Given the description of an element on the screen output the (x, y) to click on. 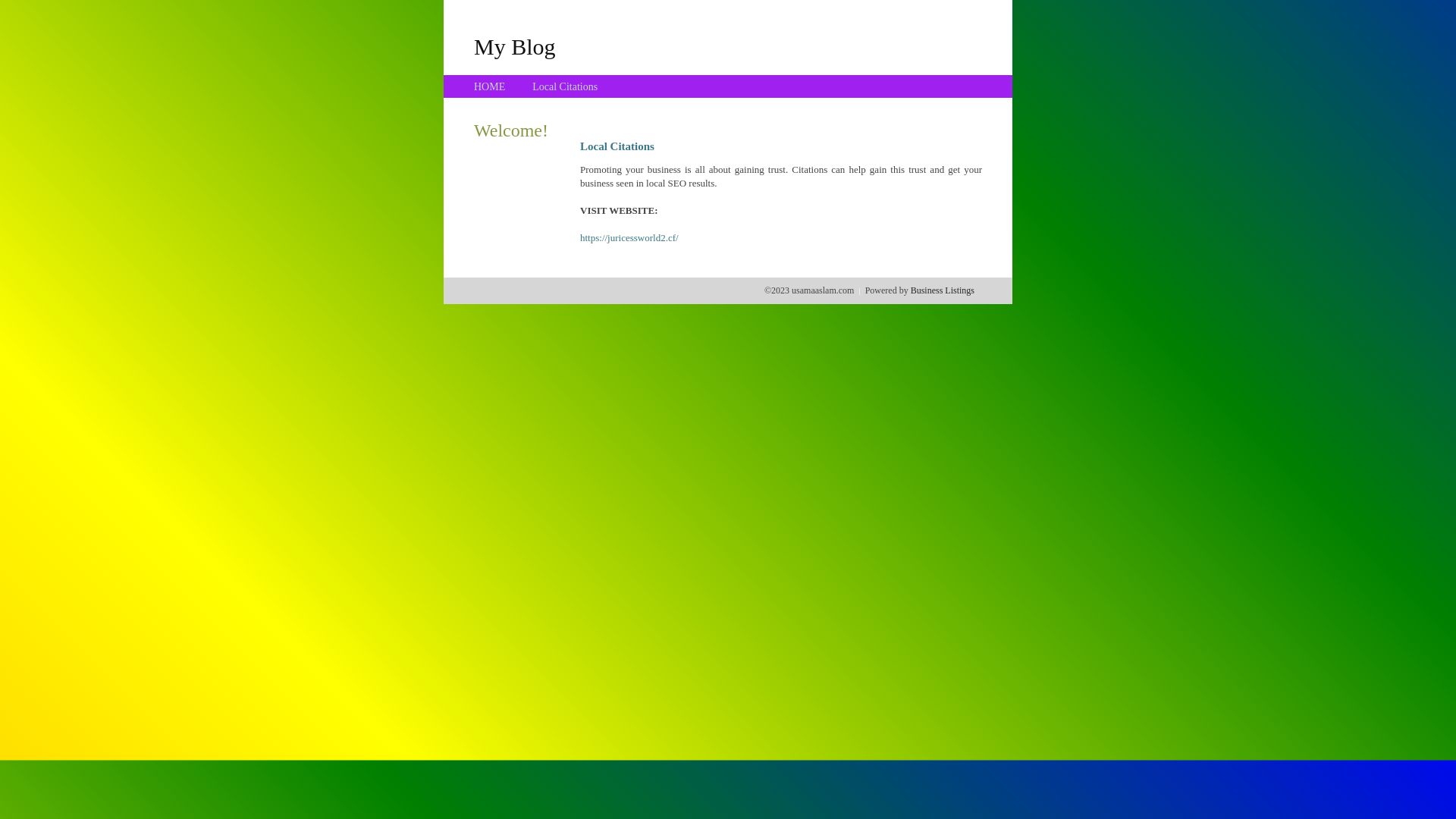
Business Listings Element type: text (942, 290)
My Blog Element type: text (514, 46)
HOME Element type: text (489, 86)
Local Citations Element type: text (564, 86)
https://juricessworld2.cf/ Element type: text (629, 237)
